Given the description of an element on the screen output the (x, y) to click on. 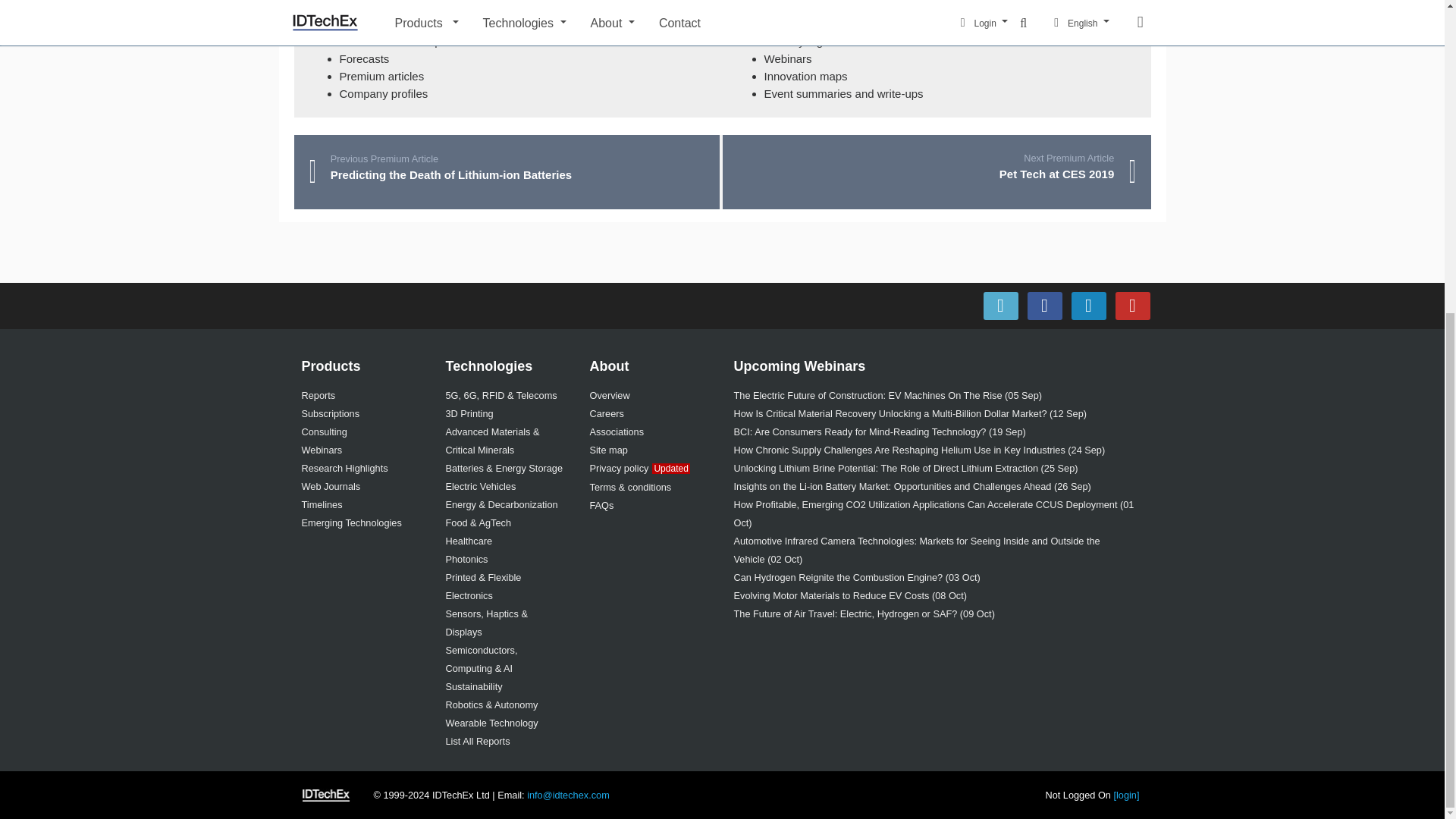
Research Highlights (344, 468)
Consulting (324, 431)
Webinars (321, 449)
3D Printing (469, 413)
Emerging Technologies (351, 522)
Photonics (466, 559)
Healthcare (469, 541)
Reports (318, 395)
Timelines (321, 504)
Web Journals (331, 486)
